Given the description of an element on the screen output the (x, y) to click on. 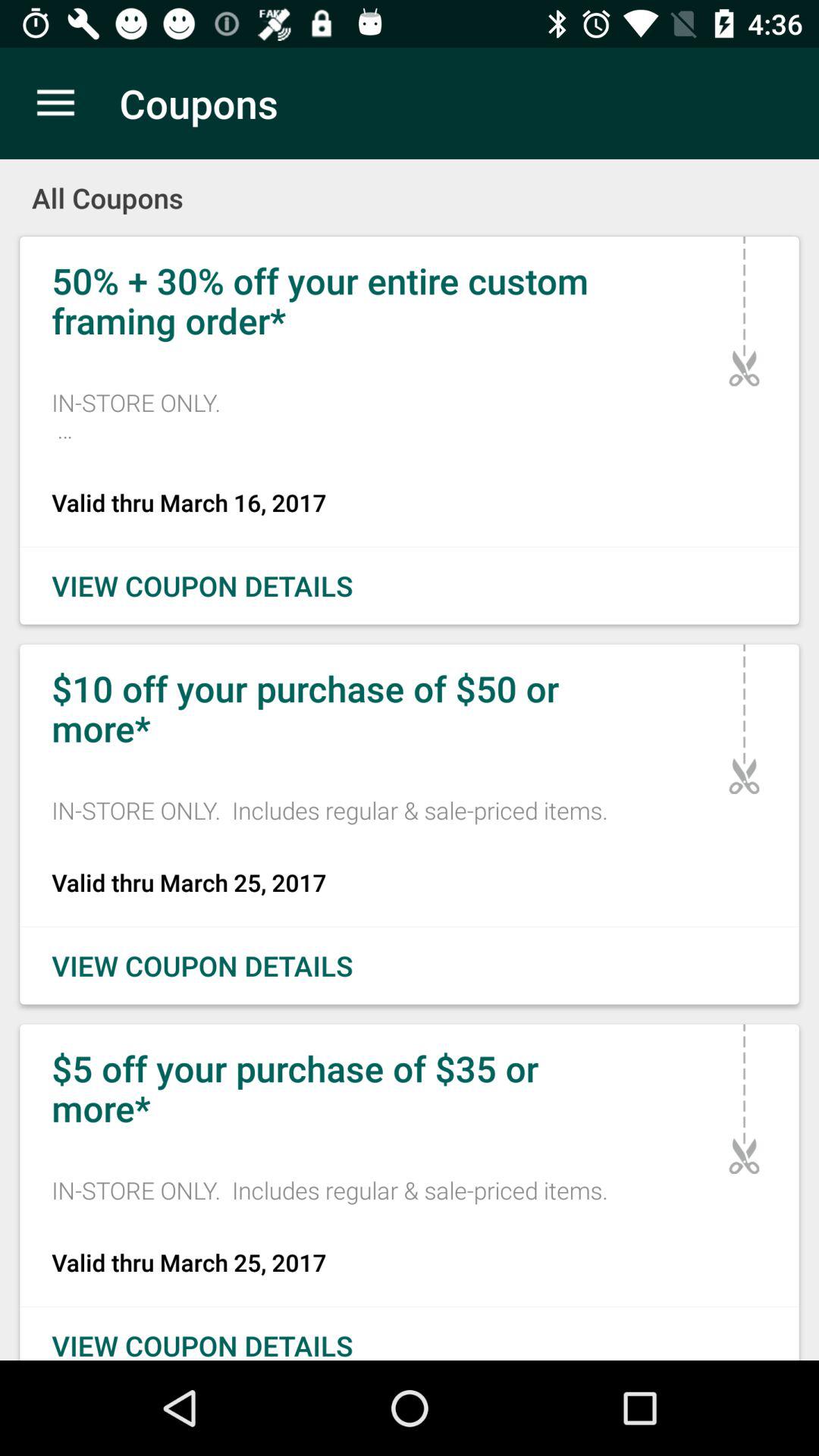
open item above the all coupons icon (55, 103)
